Given the description of an element on the screen output the (x, y) to click on. 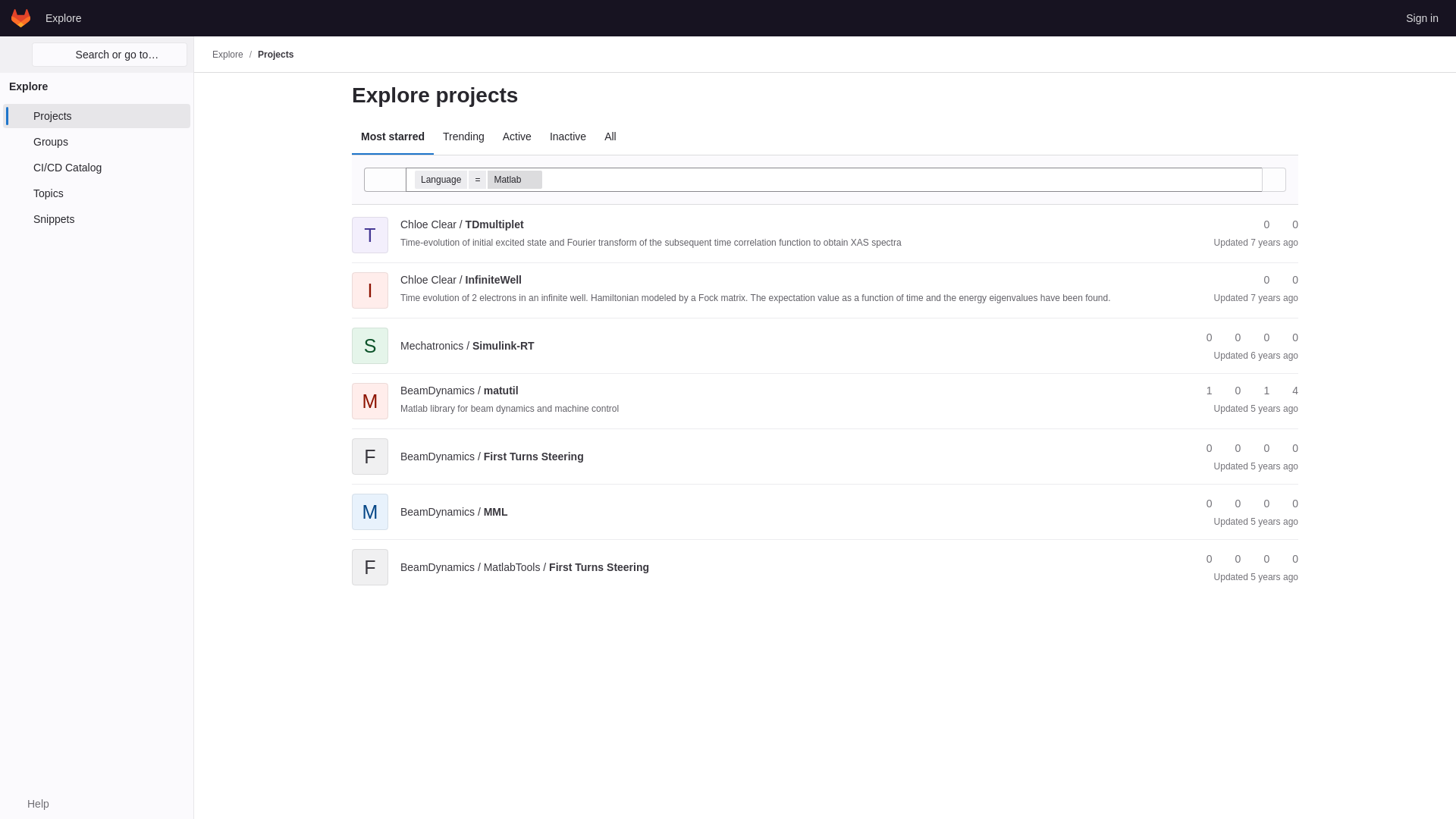
Inactive (567, 135)
Homepage (20, 17)
Projects (275, 54)
Trending (463, 135)
Forks (1288, 224)
Projects (96, 115)
Active (516, 135)
Stars (1259, 279)
Stars (1259, 224)
T (370, 224)
